Given the description of an element on the screen output the (x, y) to click on. 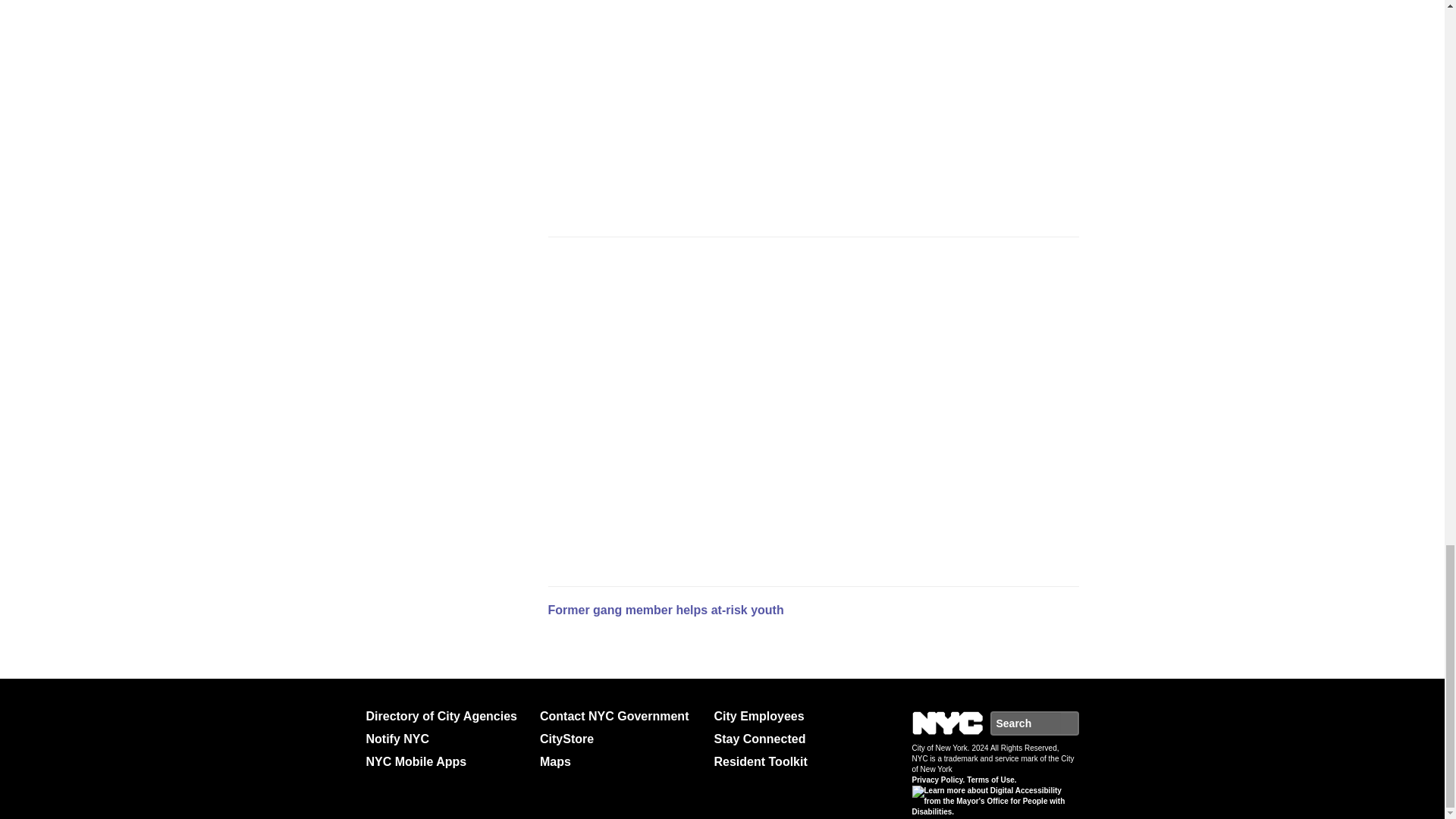
Former gang member helps at-risk youth (665, 609)
Terms of Use (991, 779)
Privacy Ploicy  (937, 779)
CityStore (620, 739)
Contact NYC Government (620, 716)
Directory of City Agencies (446, 716)
City Employees (795, 716)
Notify NYC (446, 739)
